Given the description of an element on the screen output the (x, y) to click on. 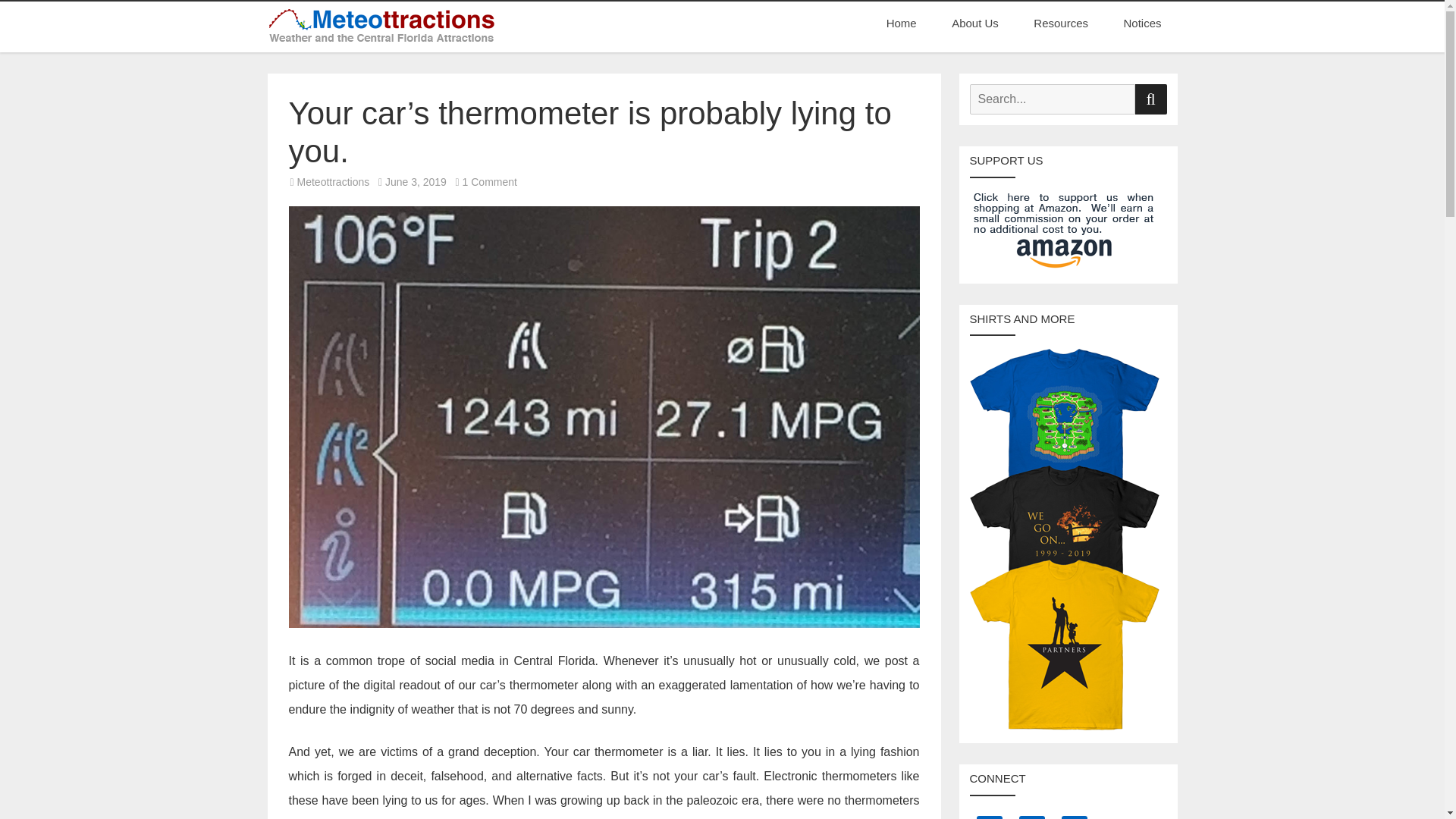
Resources (1060, 22)
Home (901, 22)
Notices (1141, 22)
Meteottractions (336, 56)
About Us (975, 22)
Meteottractions (336, 56)
Meteottractions (333, 182)
